Given the description of an element on the screen output the (x, y) to click on. 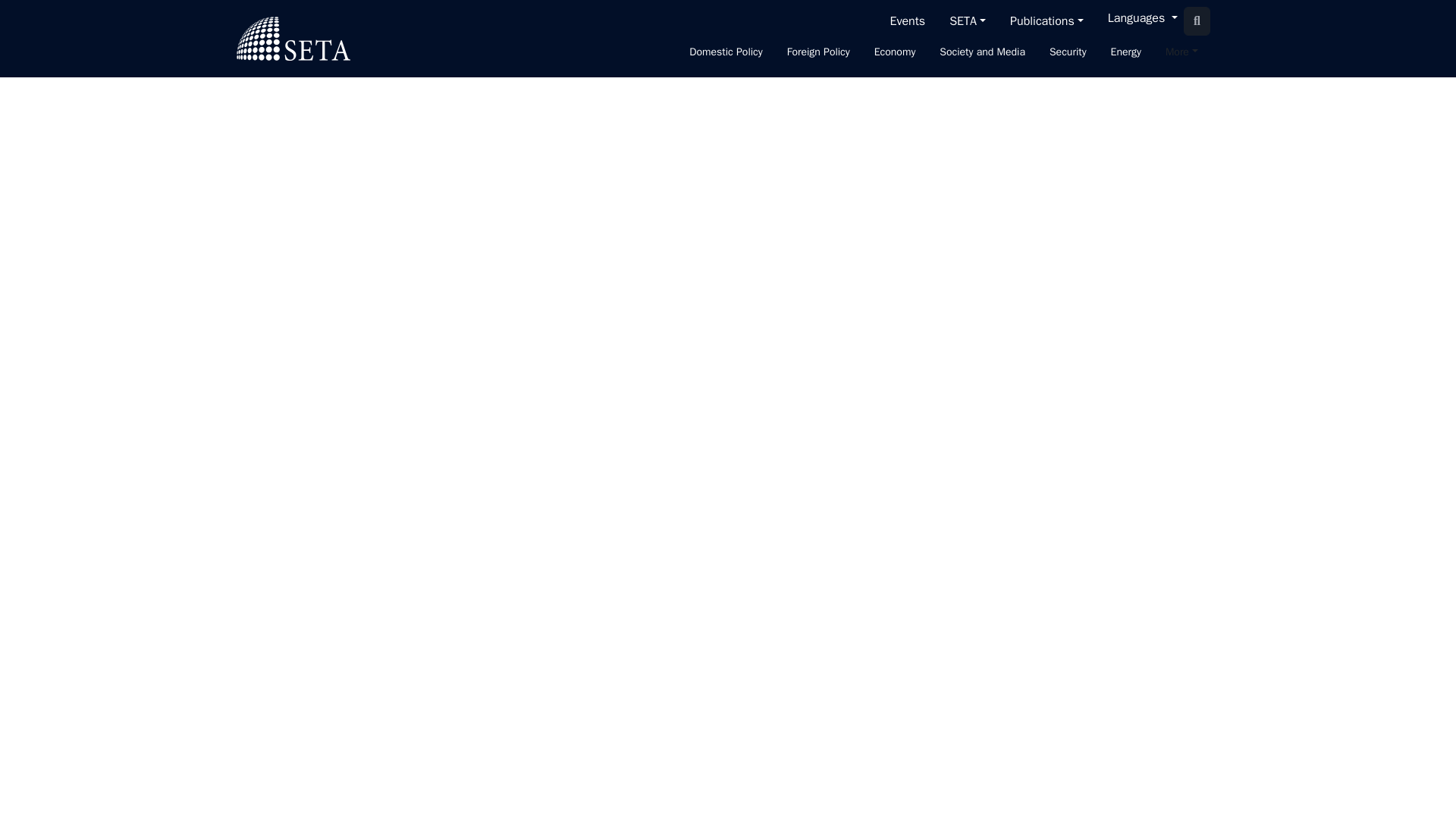
Foreign Policy (818, 53)
Events (907, 20)
Languages (1142, 21)
Domestic Policy (725, 53)
Economy (894, 53)
SETA (292, 38)
SETA (967, 20)
Society and Media (981, 53)
Energy (1126, 53)
More (1181, 53)
